Given the description of an element on the screen output the (x, y) to click on. 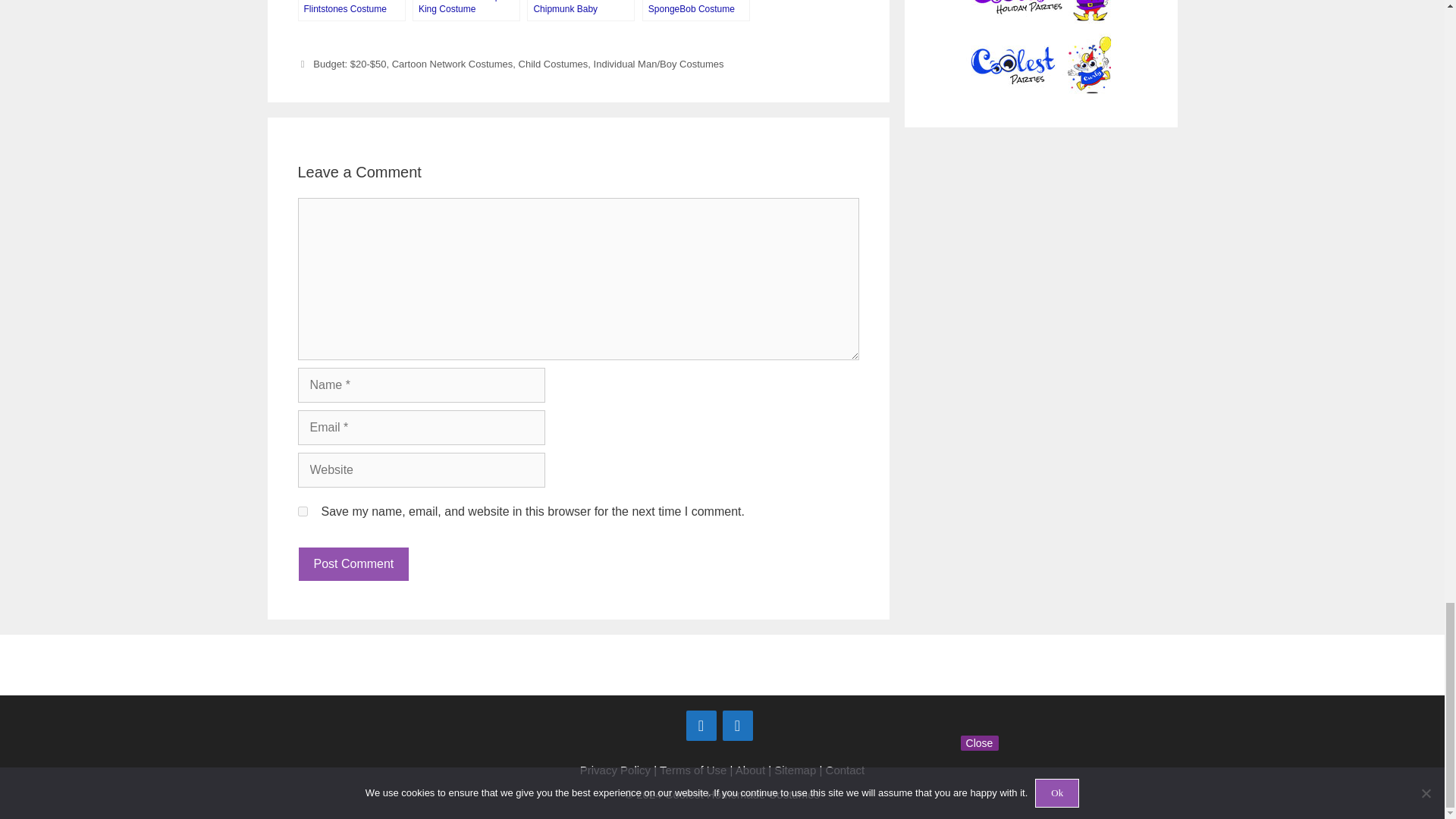
Cool Jack the Pumpkin King Costume (465, 10)
yes (302, 511)
Coolest Simon Chipmunk Baby Costume (580, 10)
Post Comment (353, 564)
Facebook (700, 725)
